Given the description of an element on the screen output the (x, y) to click on. 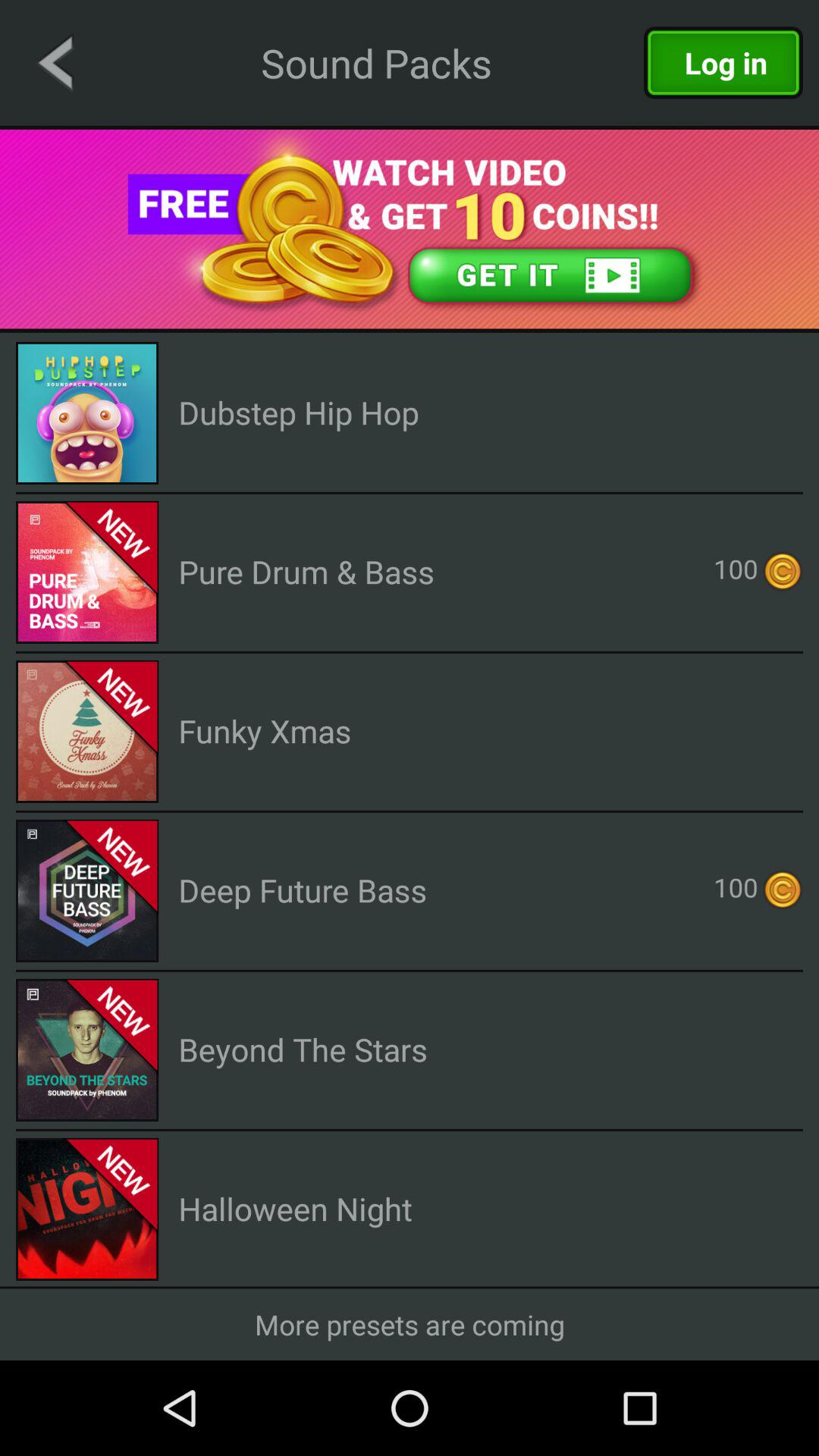
jump to the funky xmas (264, 730)
